Given the description of an element on the screen output the (x, y) to click on. 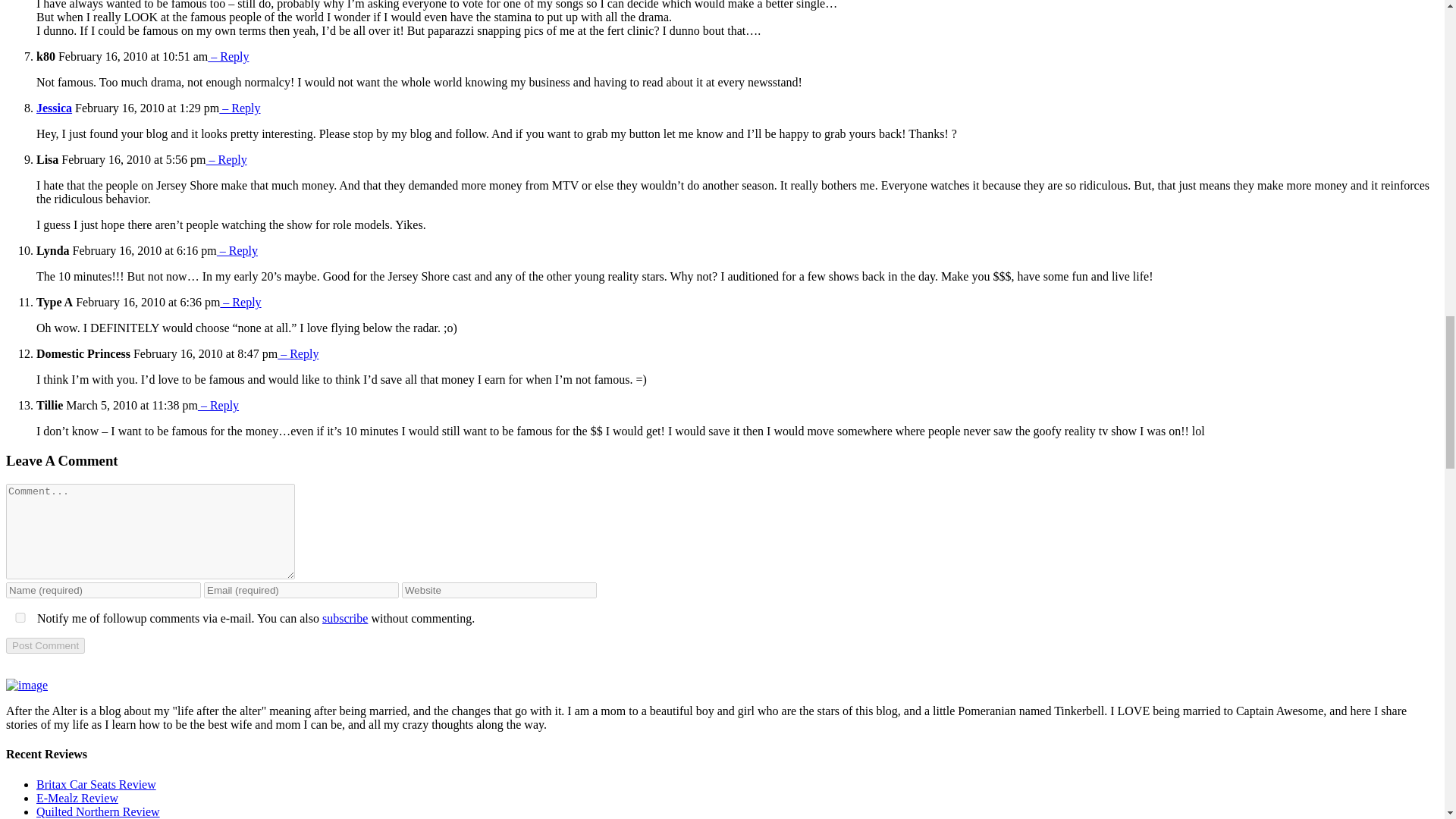
yes (20, 617)
Post Comment (44, 645)
image (26, 685)
